Given the description of an element on the screen output the (x, y) to click on. 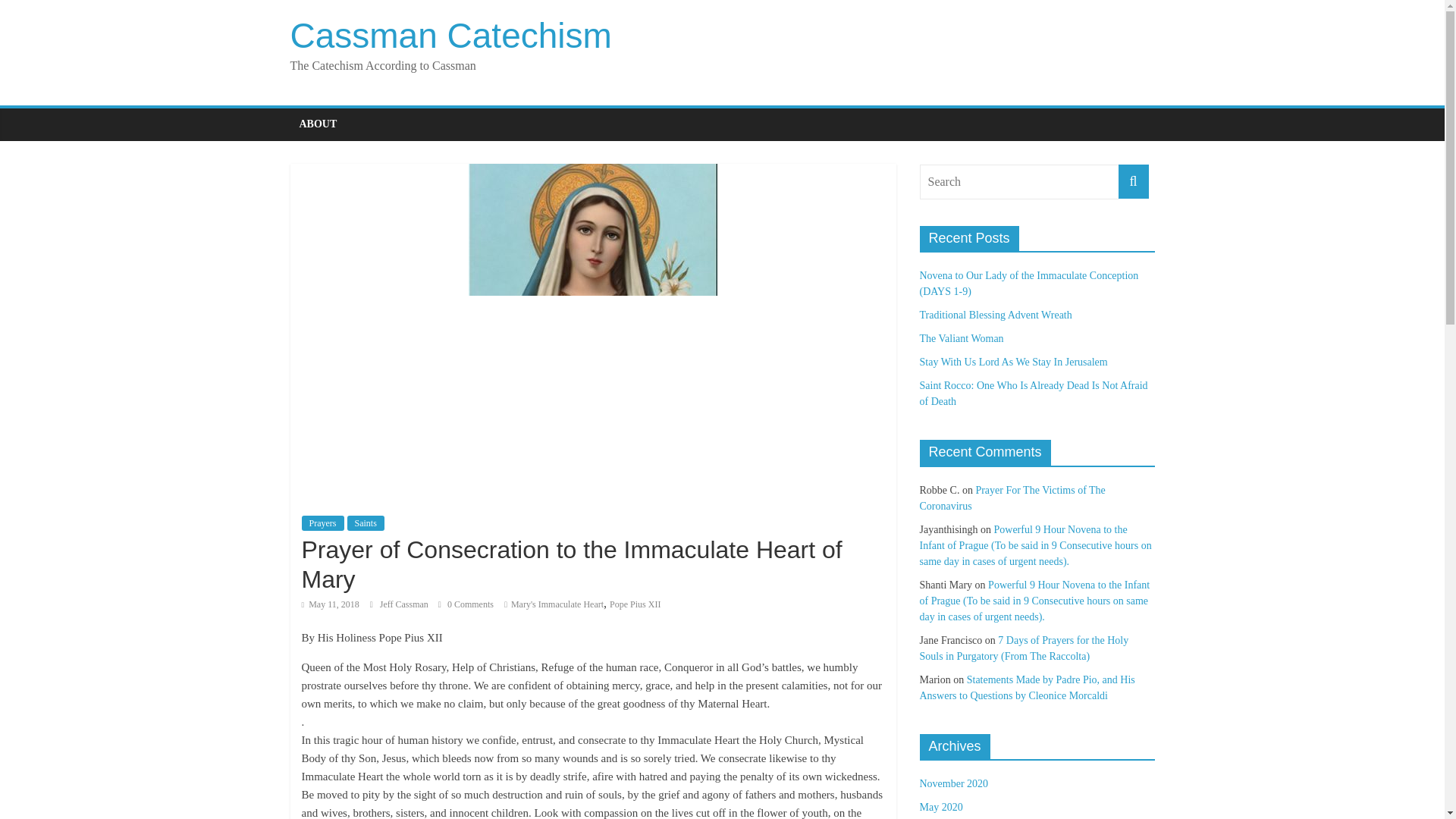
May 11, 2018 (330, 603)
November 2020 (953, 783)
Cassman Catechism (450, 35)
May 2020 (940, 807)
Saint Rocco: One Who Is Already Dead Is Not Afraid of Death (1032, 393)
The Valiant Woman (960, 337)
Prayers (322, 522)
6:18 am (330, 603)
Saints (365, 522)
Stay With Us Lord As We Stay In Jerusalem (1012, 361)
Traditional Blessing Advent Wreath (994, 315)
0 Comments (465, 603)
Prayer For The Victims of The Coronavirus (1011, 497)
Pope Pius XII (635, 603)
